Given the description of an element on the screen output the (x, y) to click on. 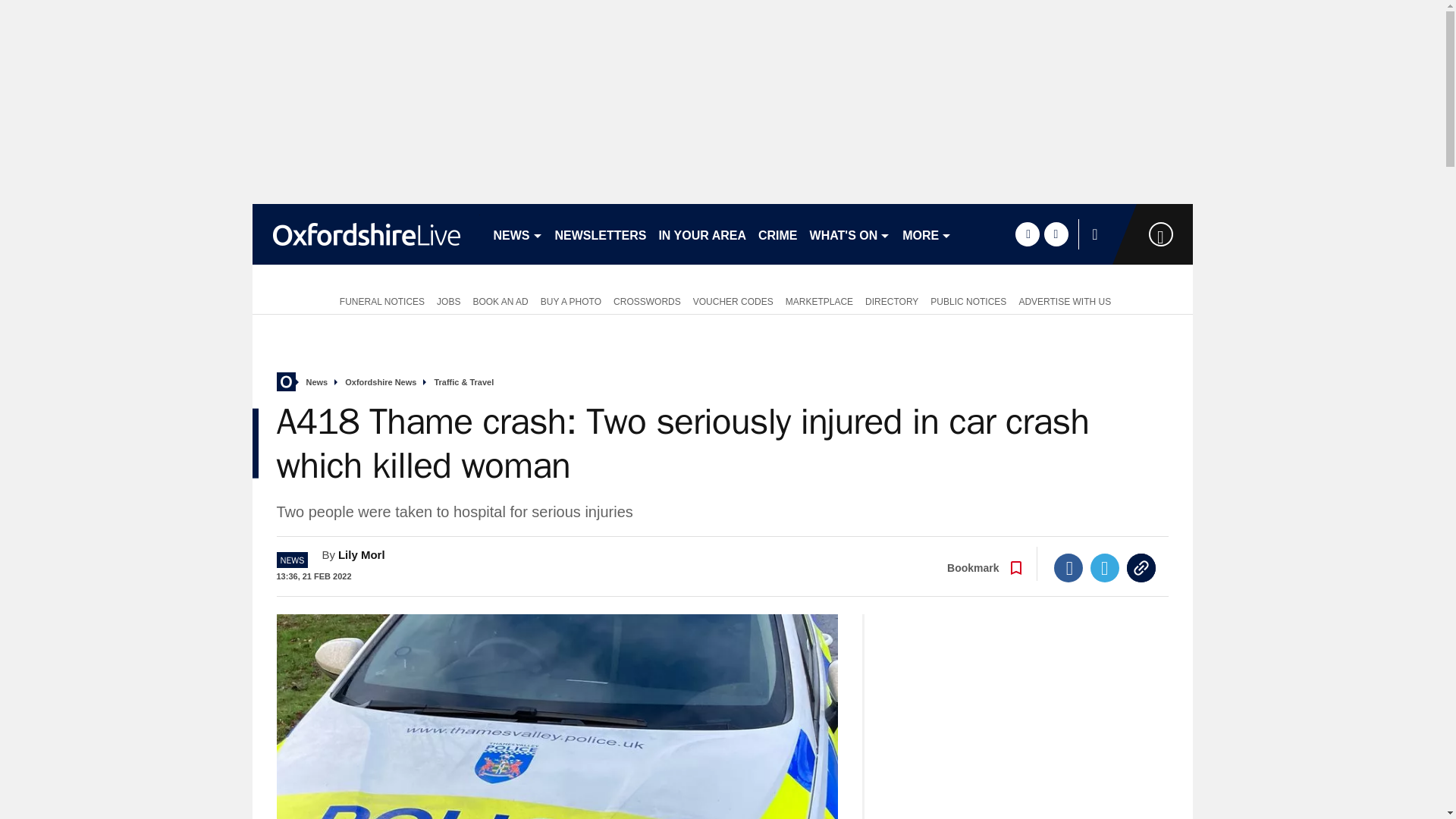
twitter (1055, 233)
MARKETPLACE (818, 300)
VOUCHER CODES (732, 300)
Facebook (1068, 567)
Home (285, 381)
NEWS (517, 233)
News (317, 382)
facebook (1026, 233)
Oxfordshire News (380, 382)
DIRECTORY (891, 300)
